Given the description of an element on the screen output the (x, y) to click on. 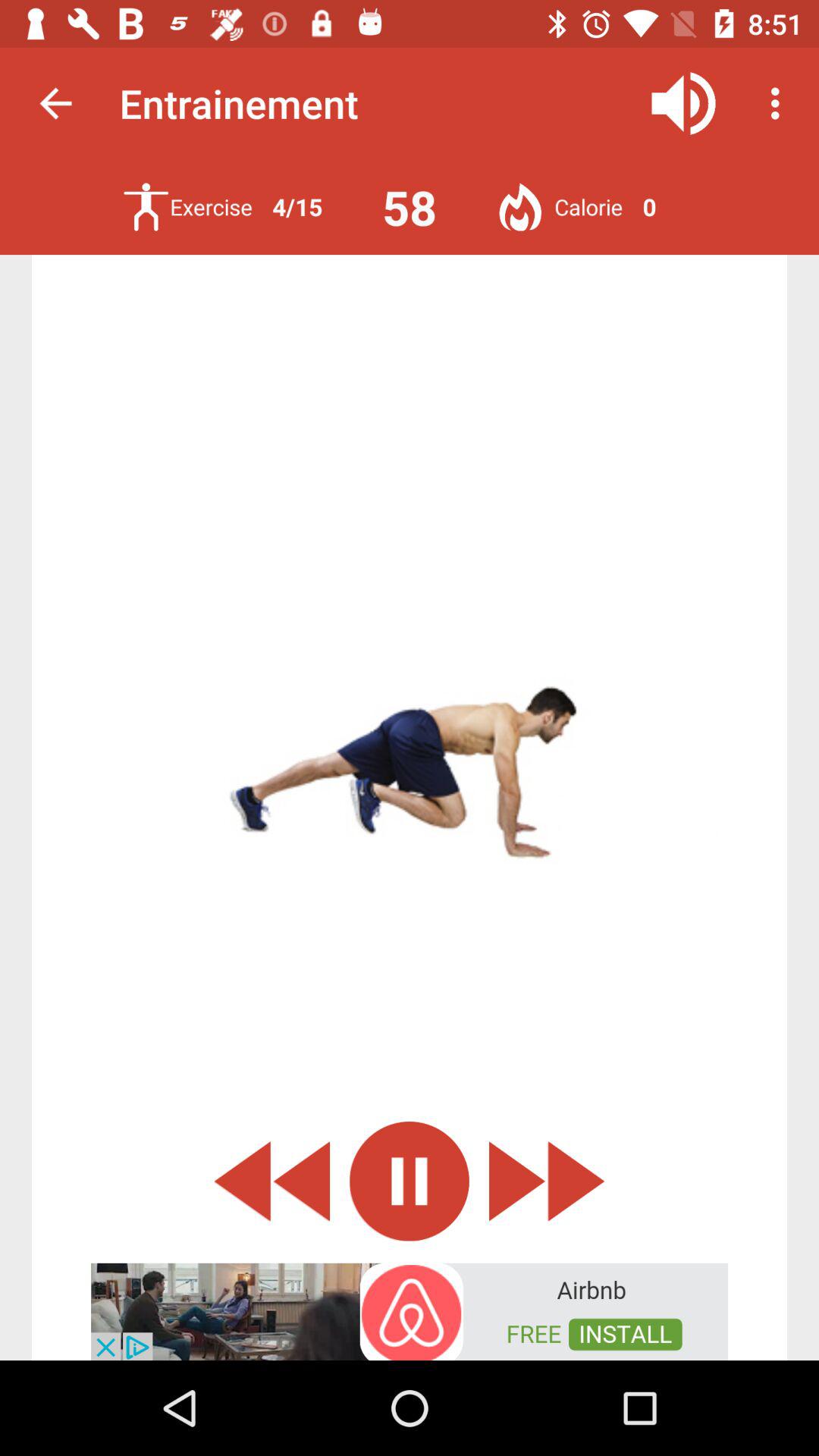
go back (271, 1181)
